Given the description of an element on the screen output the (x, y) to click on. 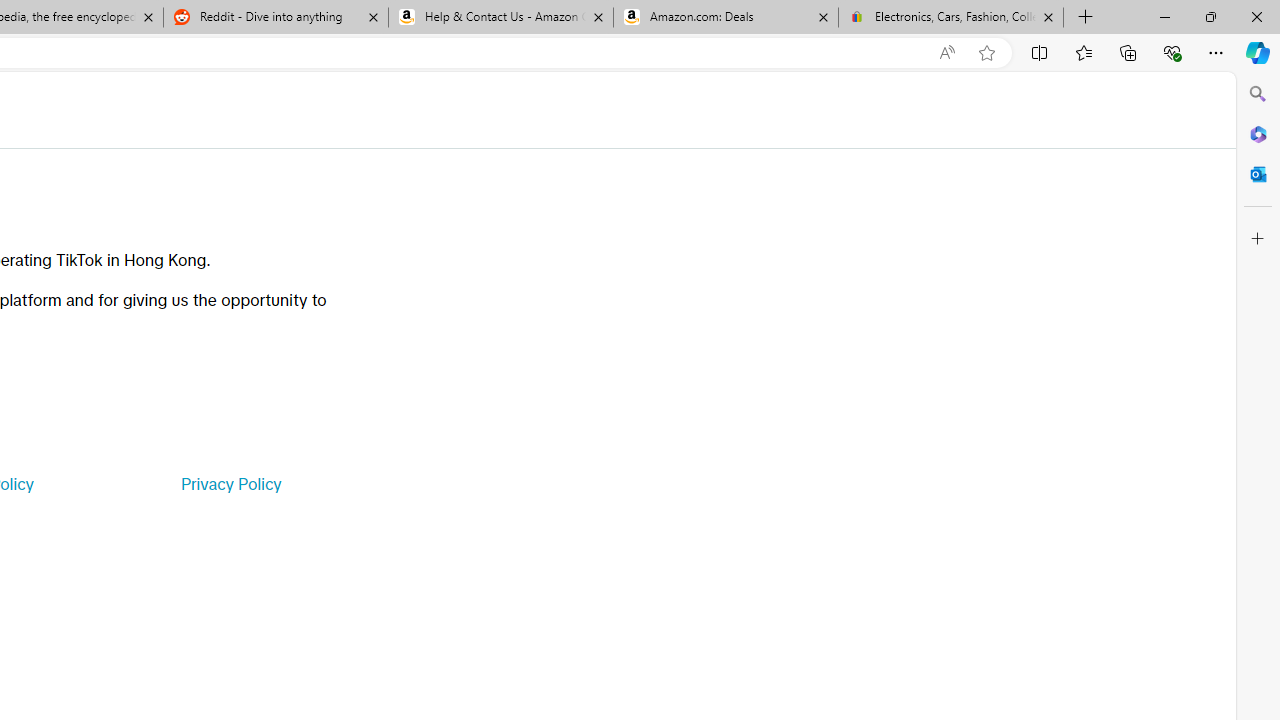
Privacy Policy (230, 484)
